Given the description of an element on the screen output the (x, y) to click on. 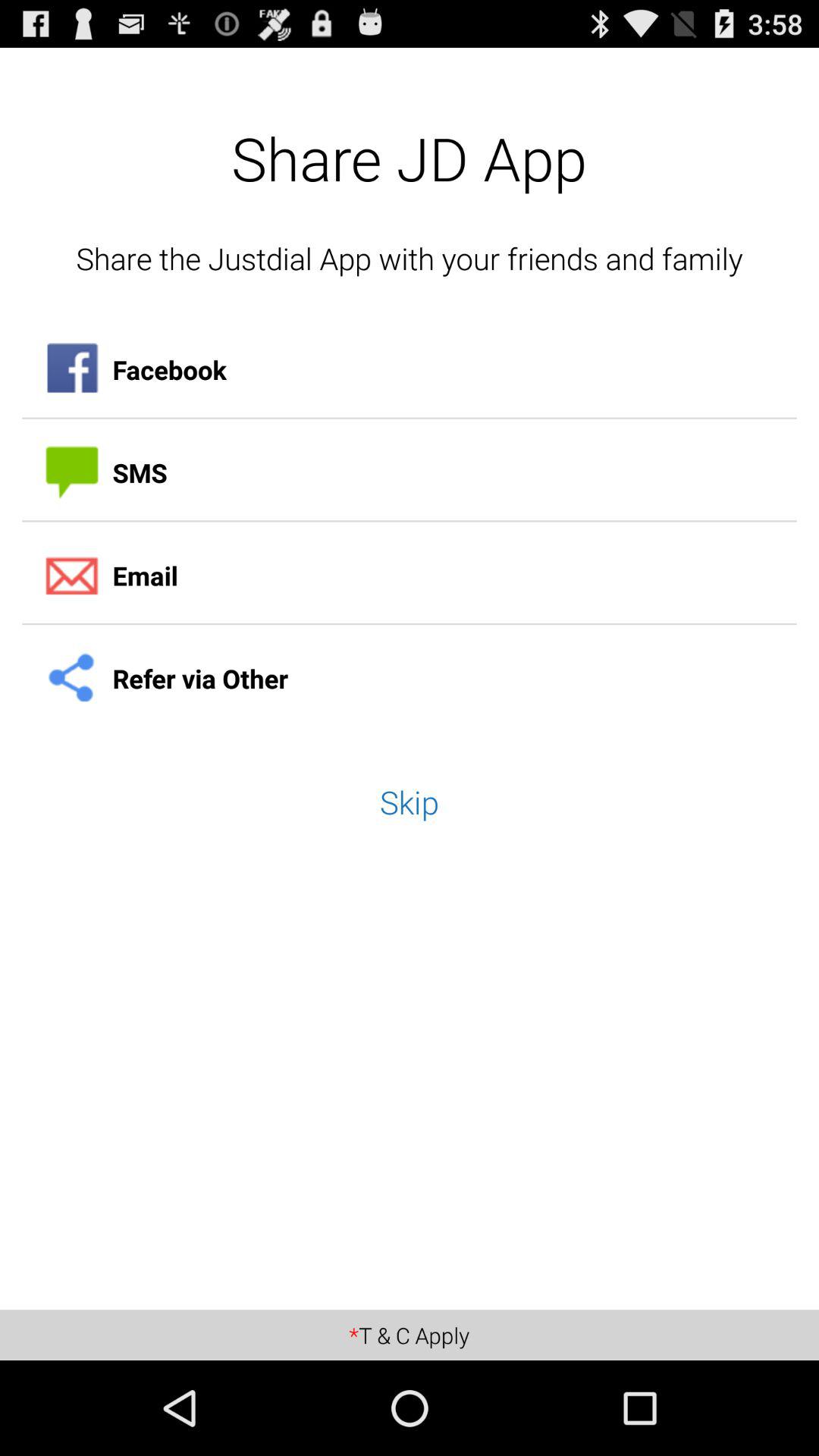
click the icon below refer via other icon (409, 801)
